Given the description of an element on the screen output the (x, y) to click on. 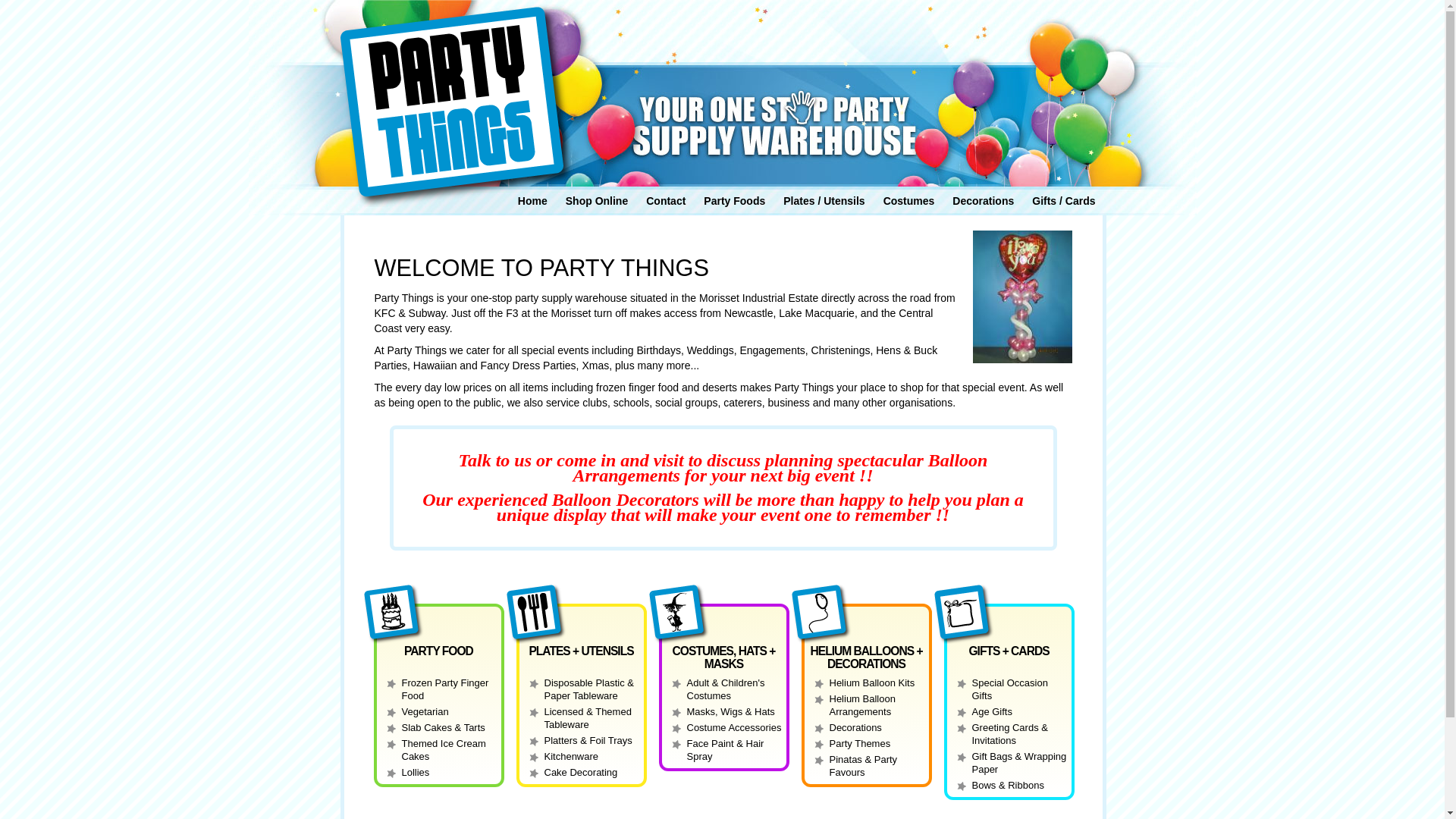
PLATES + UTENSILS Element type: text (580, 650)
27th January 2012 033 Element type: hover (1021, 296)
Frozen Party Finger Food Element type: text (445, 689)
Decorations Element type: text (855, 727)
Bows & Ribbons Element type: text (1008, 784)
Vegetarian Element type: text (424, 711)
Party Foods Element type: text (734, 200)
Party Themes Element type: text (860, 743)
Helium Balloon Kits Element type: text (872, 682)
Adult & Children's Costumes Element type: text (726, 689)
PARTY FOOD Element type: text (438, 650)
Age Gifts Element type: text (992, 711)
Decorations Element type: text (982, 200)
Costumes Element type: text (909, 200)
Pinatas & Party Favours Element type: text (863, 765)
Disposable Plastic & Paper Tableware Element type: text (589, 689)
GIFTS + CARDS Element type: text (1008, 650)
Licensed & Themed Tableware Element type: text (587, 718)
Shop Online Element type: text (596, 200)
Themed Ice Cream Cakes Element type: text (443, 749)
Gifts / Cards Element type: text (1063, 200)
COSTUMES, HATS + MASKS Element type: text (723, 657)
Costume Accessories Element type: text (734, 727)
Special Occasion Gifts Element type: text (1010, 689)
Cake Decorating Element type: text (581, 772)
Helium Balloon Arrangements Element type: text (862, 705)
HELIUM BALLOONS + DECORATIONS Element type: text (865, 657)
Face Paint & Hair Spray Element type: text (725, 749)
Plates / Utensils Element type: text (823, 200)
Home Element type: text (532, 200)
Masks, Wigs & Hats Element type: text (731, 711)
Lollies Element type: text (415, 772)
Greeting Cards & Invitations Element type: text (1010, 733)
Platters & Foil Trays Element type: text (588, 740)
Contact Element type: text (665, 200)
Slab Cakes & Tarts Element type: text (443, 727)
Gift Bags & Wrapping Paper Element type: text (1019, 762)
Kitchenware Element type: text (571, 756)
